Given the description of an element on the screen output the (x, y) to click on. 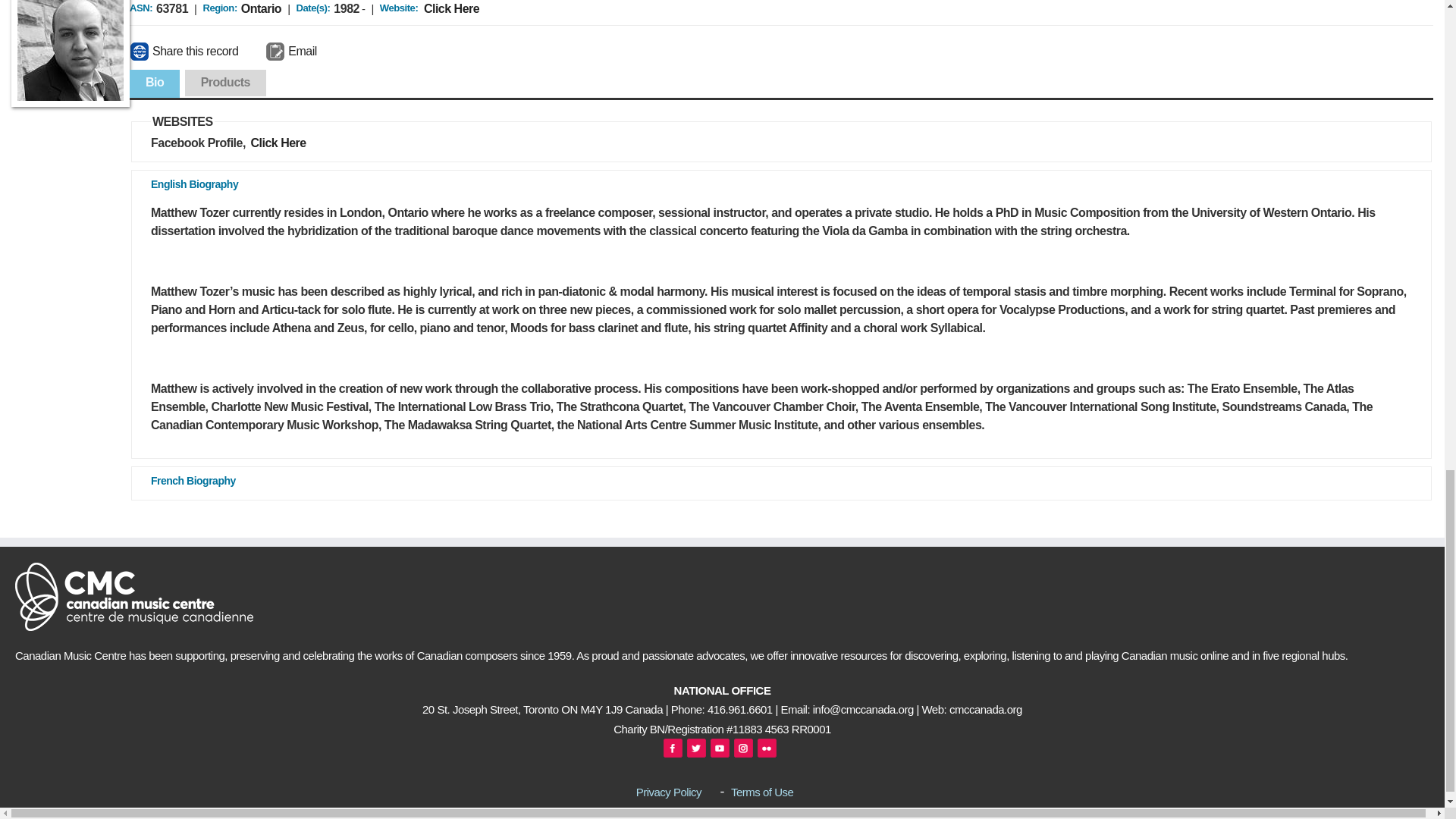
Flickr (766, 747)
Twitter (696, 747)
Facebook (672, 747)
Find all records with this Region (261, 8)
Youtube (719, 747)
Instagram (742, 747)
